Given the description of an element on the screen output the (x, y) to click on. 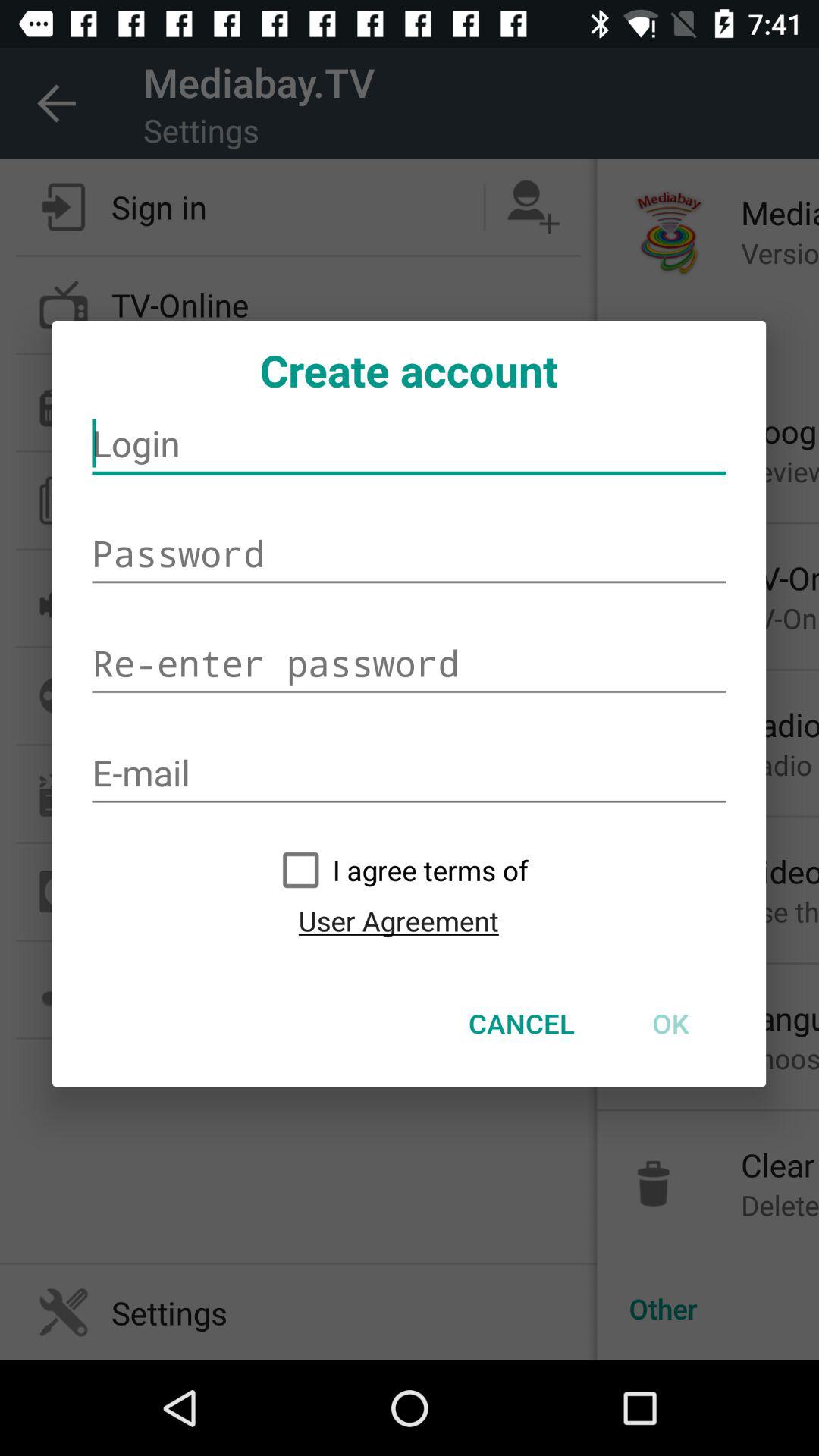
launch the icon next to cancel item (670, 1022)
